Given the description of an element on the screen output the (x, y) to click on. 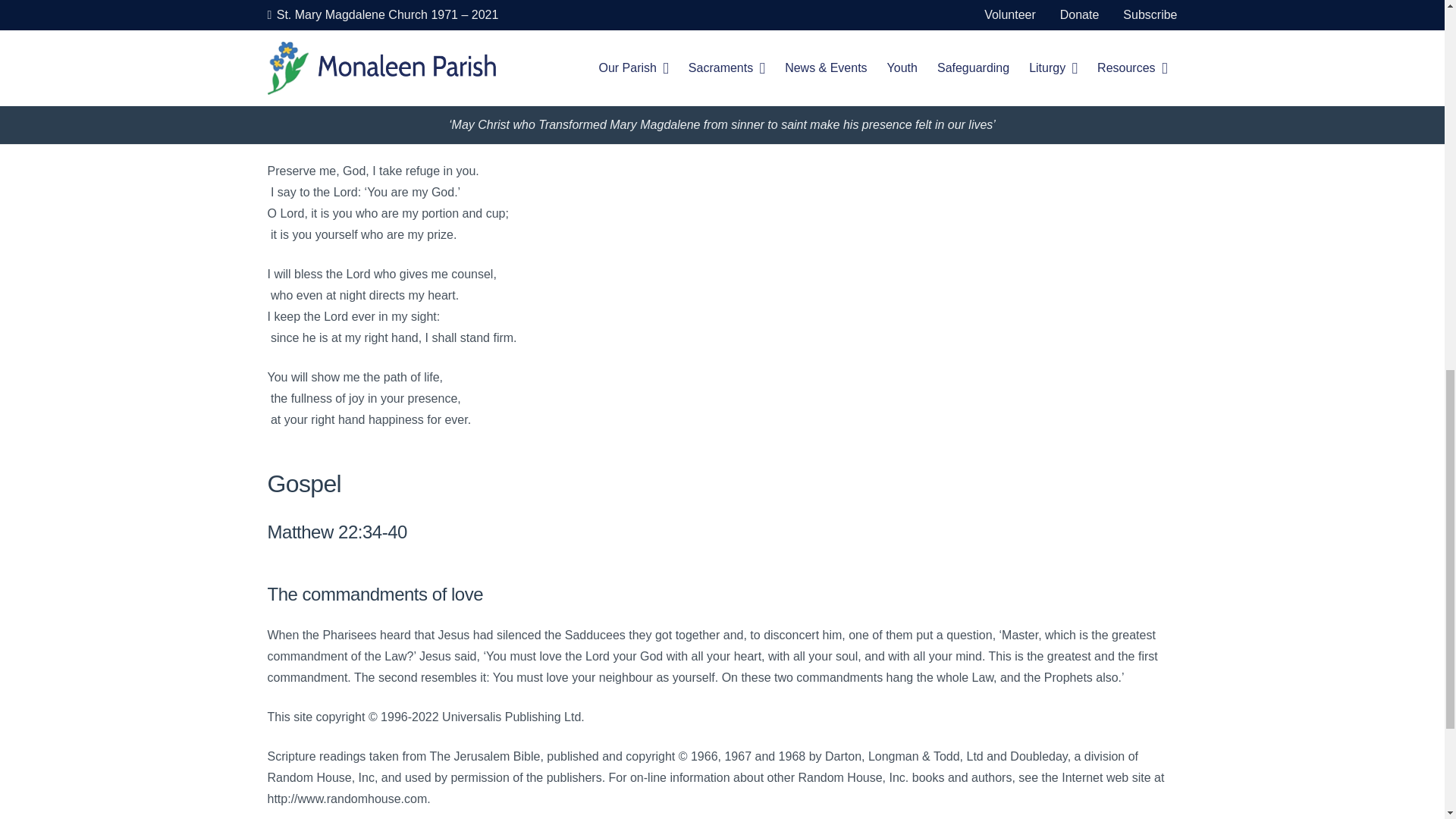
Back to top (1413, 30)
